Given the description of an element on the screen output the (x, y) to click on. 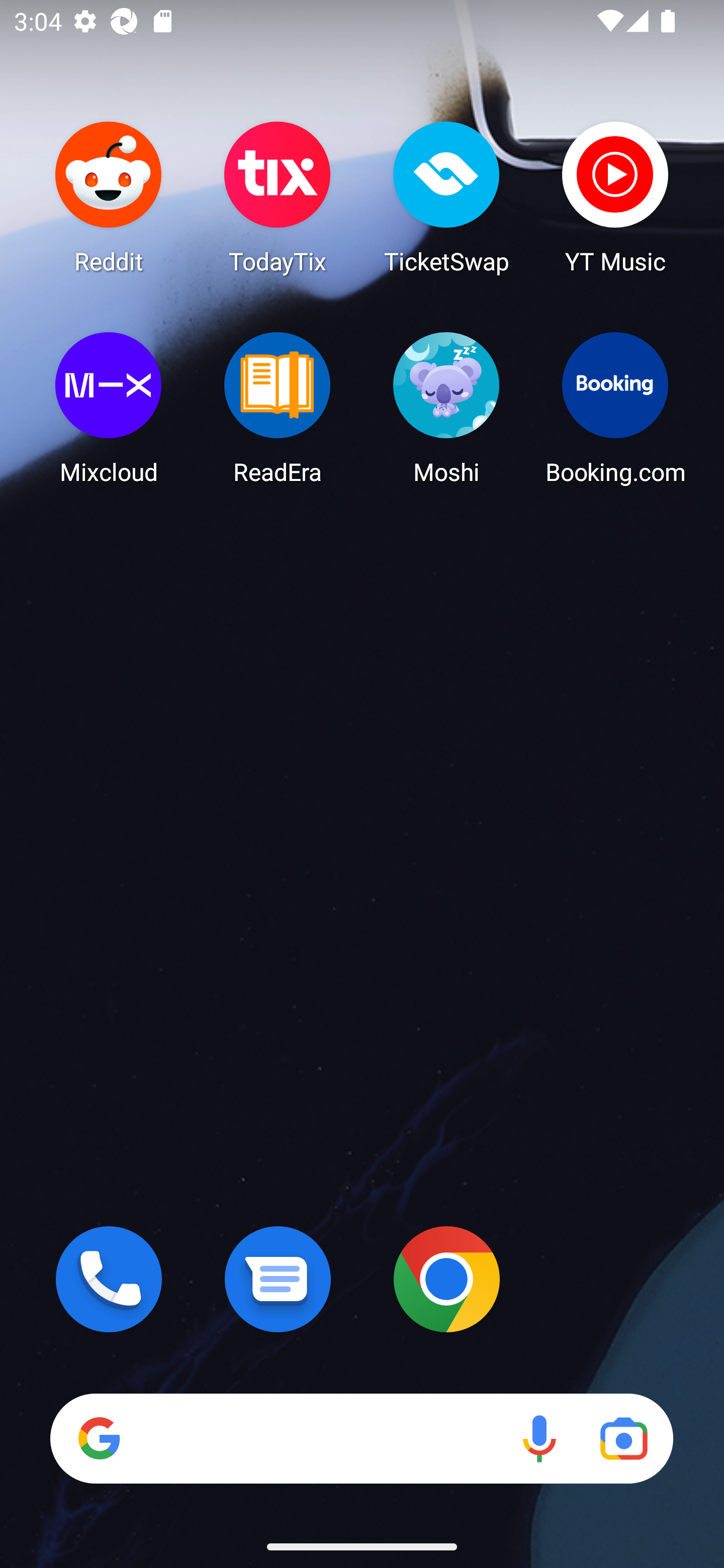
Reddit (108, 196)
TodayTix (277, 196)
TicketSwap (445, 196)
YT Music (615, 196)
Mixcloud (108, 407)
ReadEra (277, 407)
Moshi (445, 407)
Booking.com (615, 407)
Phone (108, 1279)
Messages (277, 1279)
Chrome (446, 1279)
Search Voice search Google Lens (361, 1438)
Voice search (539, 1438)
Google Lens (623, 1438)
